Given the description of an element on the screen output the (x, y) to click on. 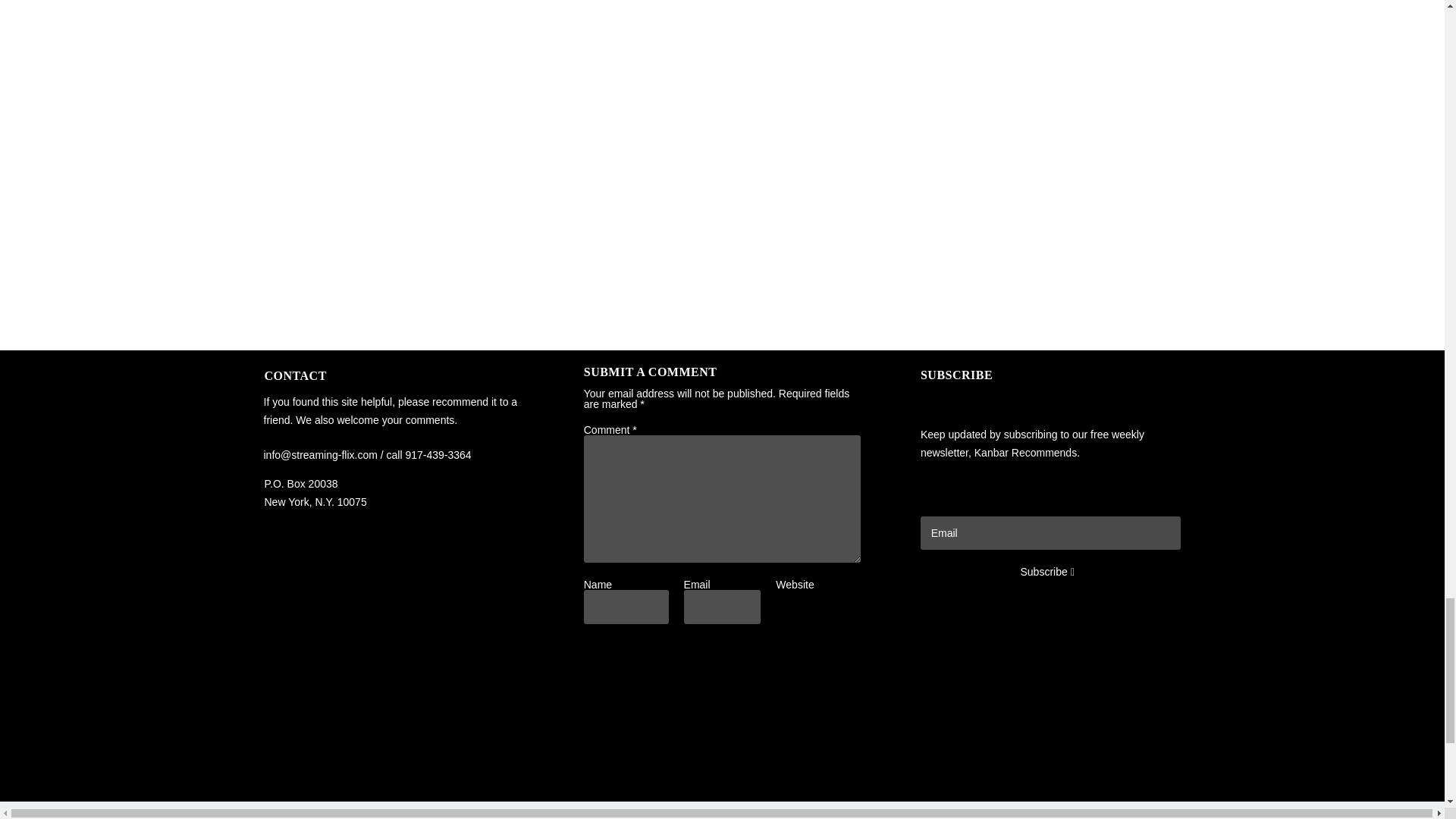
Share "Grand Illusion" via Print (792, 734)
Share "Grand Illusion" via Twitter (732, 734)
Share "Grand Illusion" via Email (762, 734)
Share "Grand Illusion" via Facebook (702, 734)
